Given the description of an element on the screen output the (x, y) to click on. 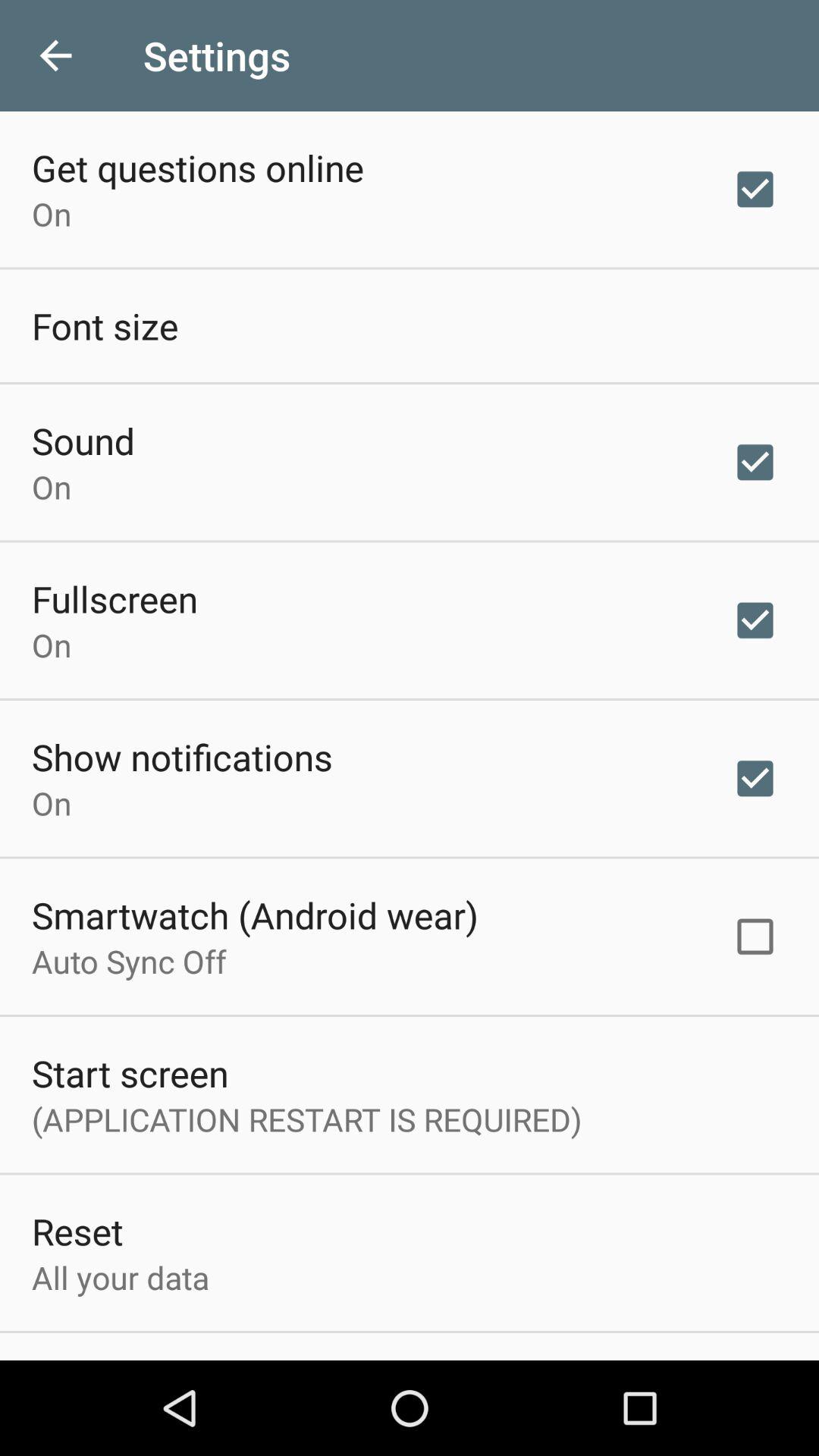
press icon below font size item (82, 440)
